Given the description of an element on the screen output the (x, y) to click on. 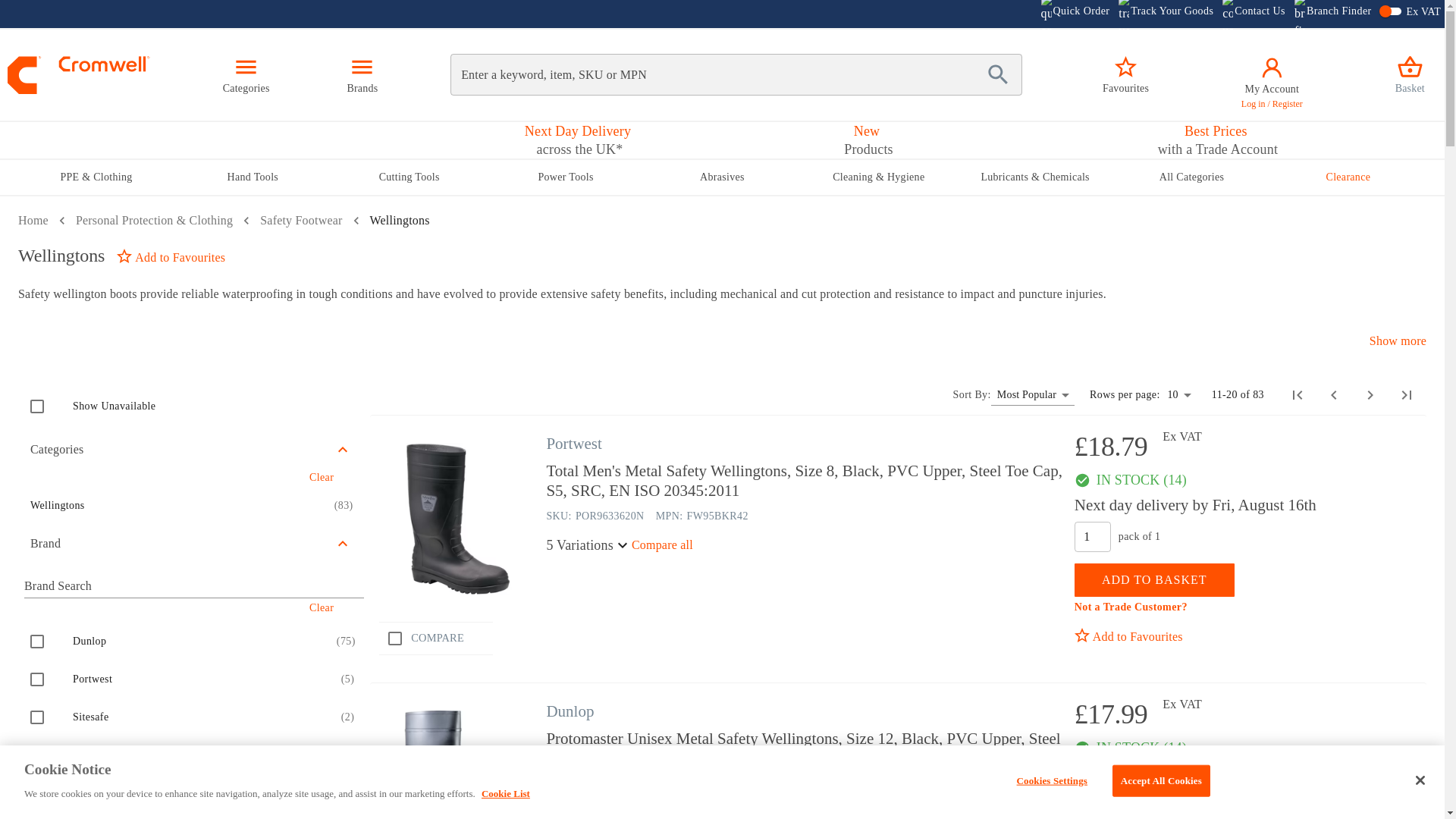
All Categories (1191, 176)
Quick Order (1075, 14)
Favourites (1125, 74)
Home (32, 219)
1 (1092, 804)
Cutting Tools (408, 176)
Hand Tools (252, 176)
Track Your Goods (1165, 14)
Branch Finder (1332, 14)
1 (1092, 536)
